Given the description of an element on the screen output the (x, y) to click on. 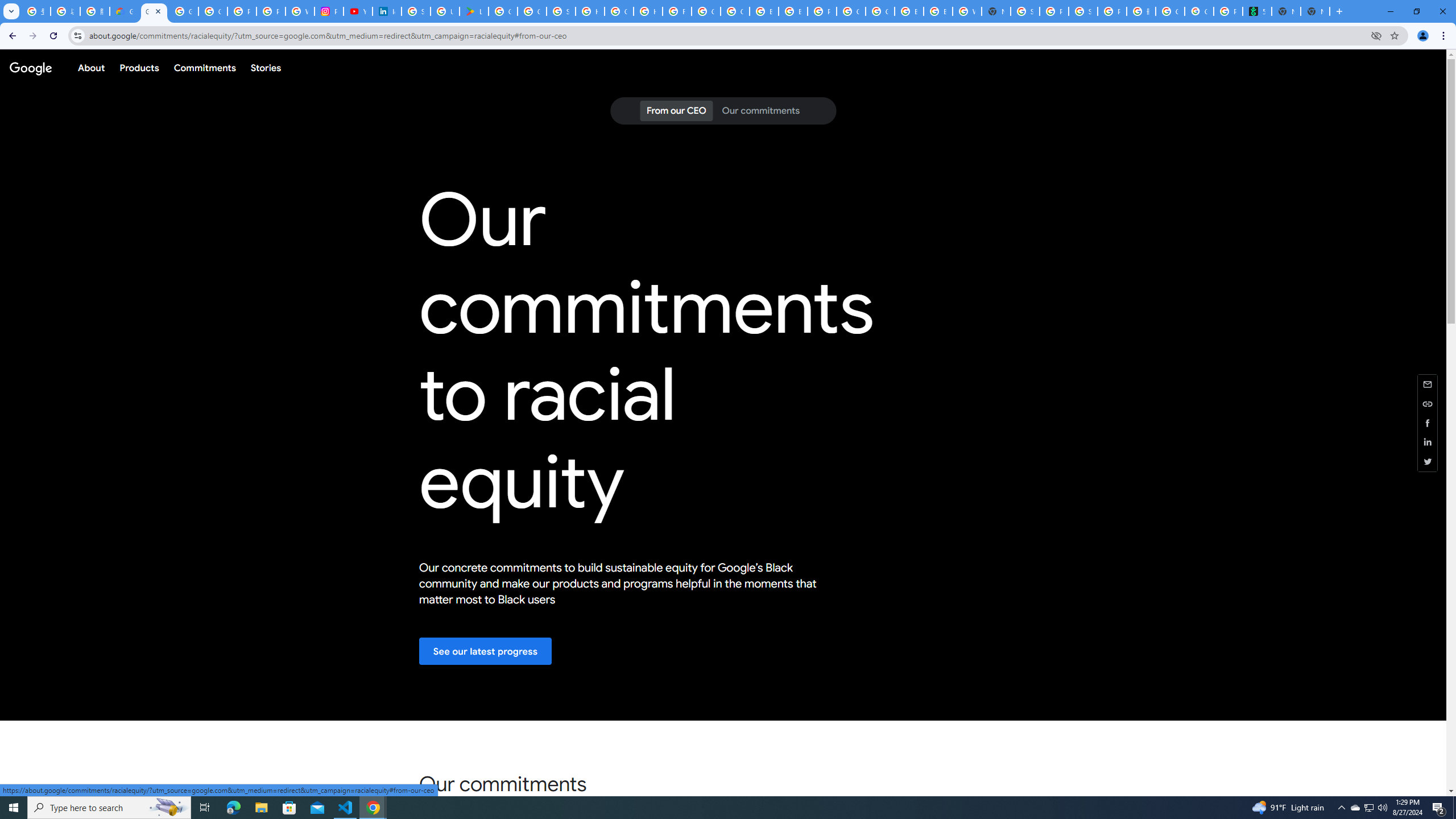
Privacy Help Center - Policies Help (271, 11)
YouTube Culture & Trends - On The Rise: Handcam Videos (357, 11)
Share this page (Email) (1427, 383)
From our CEO: Jump to page section (676, 110)
Share this page (LinkedIn) (1427, 442)
Browse Chrome as a guest - Computer - Google Chrome Help (763, 11)
